Given the description of an element on the screen output the (x, y) to click on. 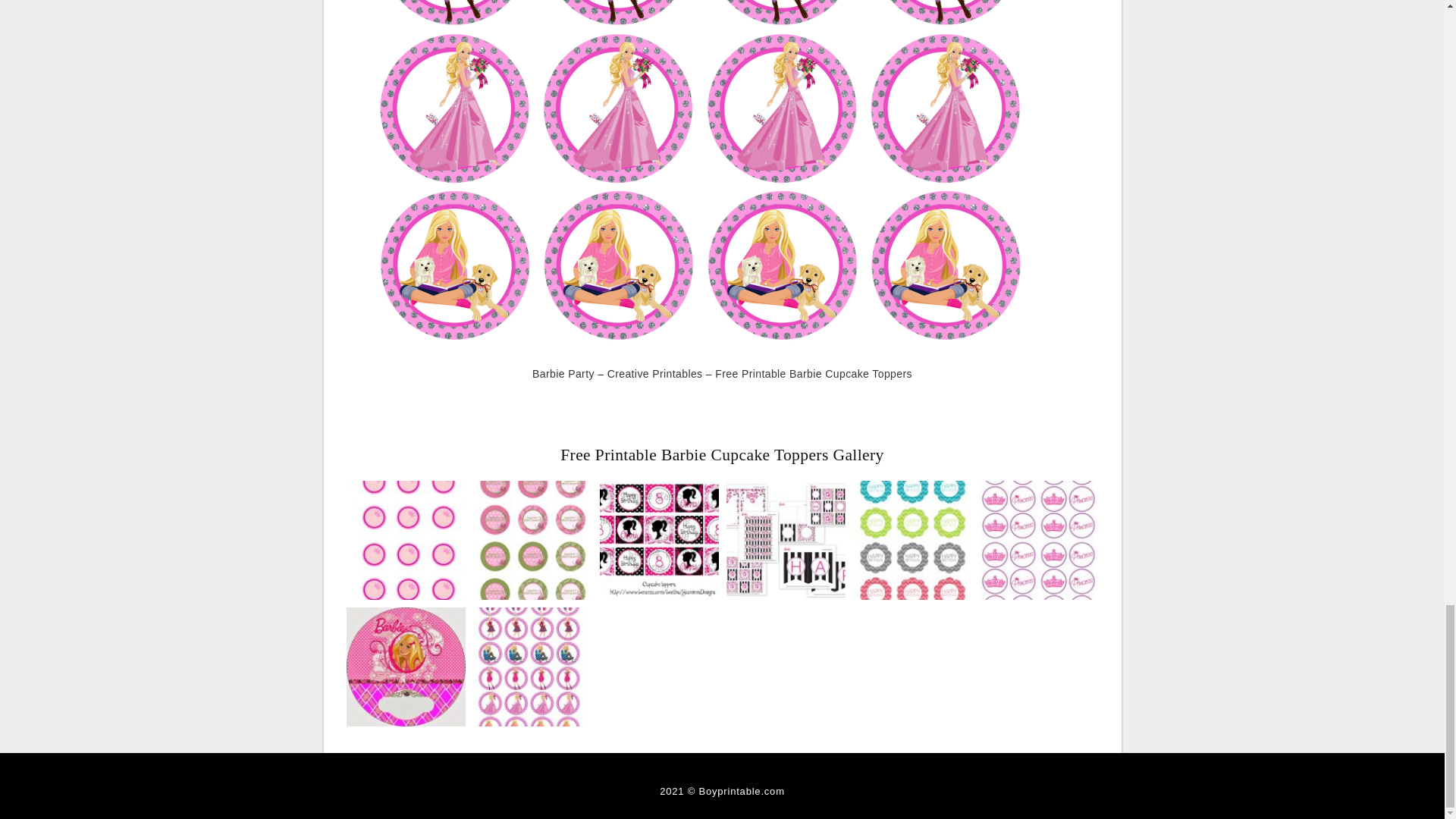
Boyprintable.com (741, 790)
